Given the description of an element on the screen output the (x, y) to click on. 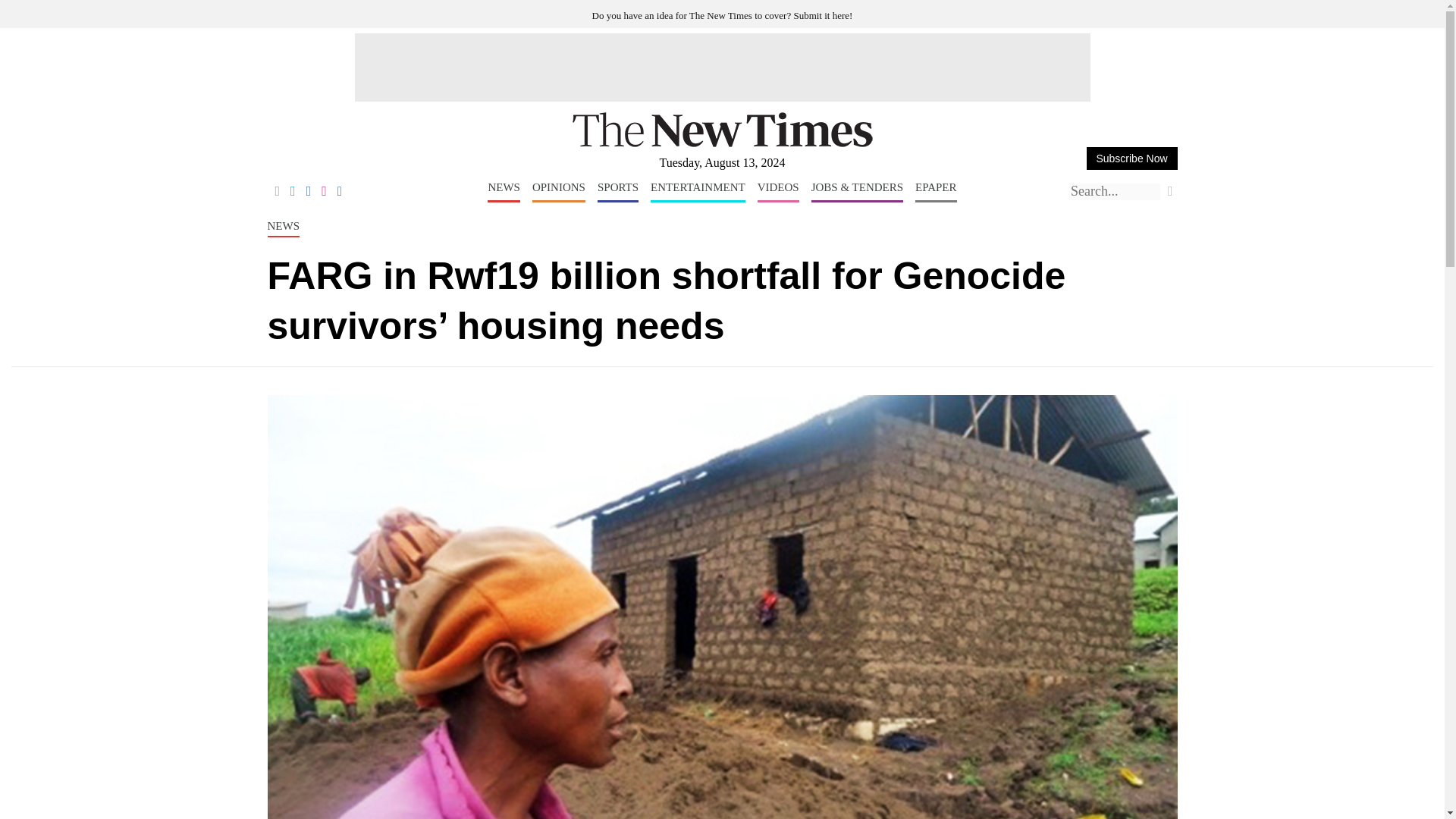
OPINIONS (558, 191)
SPORTS (617, 191)
News (503, 191)
Submit New Ideas (722, 15)
Subscribe Now (1131, 158)
NEWS (503, 191)
The New Times (721, 144)
